Given the description of an element on the screen output the (x, y) to click on. 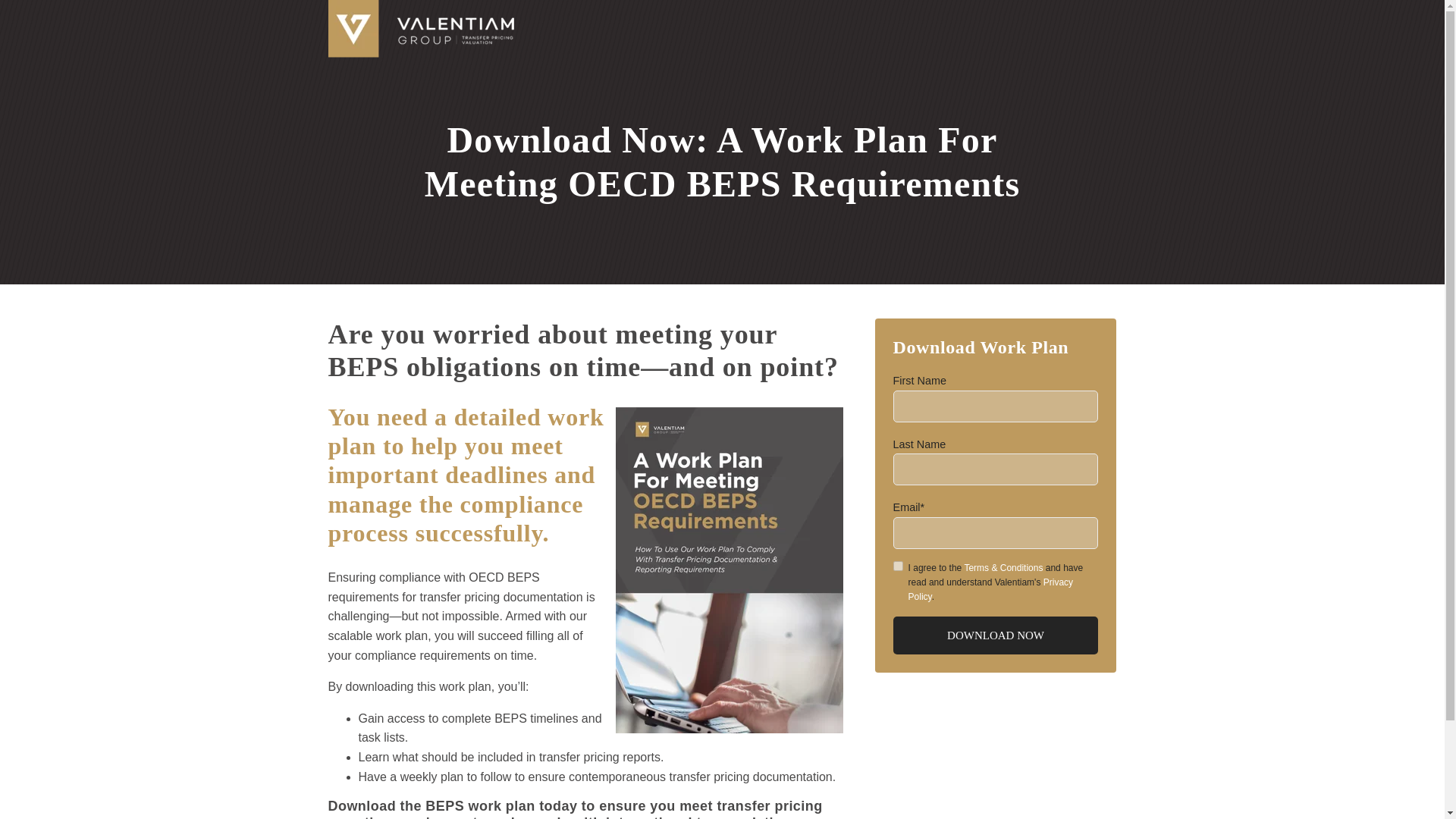
logo (420, 28)
Download Now (996, 635)
true (897, 565)
Privacy Policy (991, 589)
Download Now (996, 635)
